Given the description of an element on the screen output the (x, y) to click on. 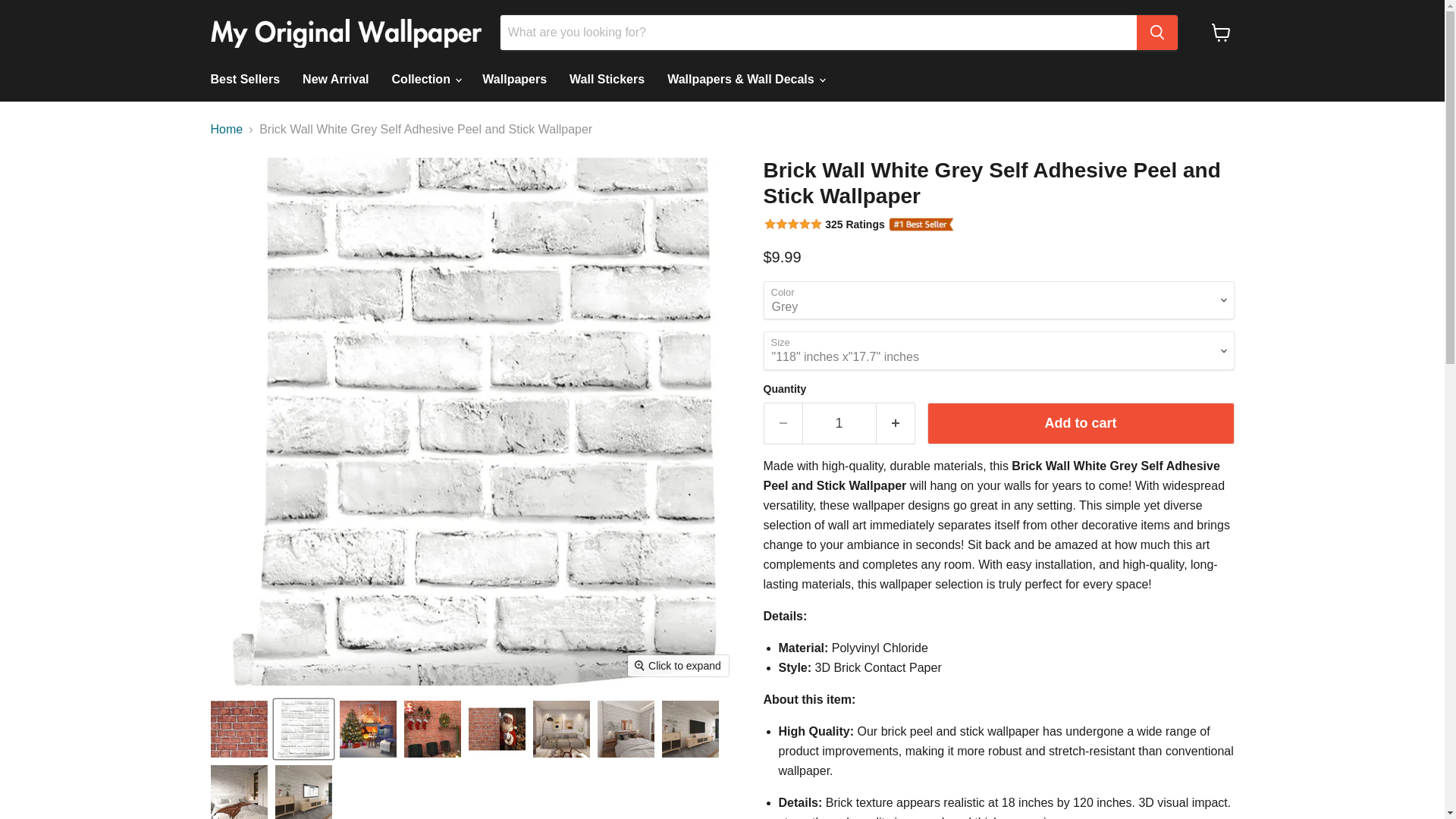
1 (839, 423)
Wallpapers (513, 79)
Wall Stickers (606, 79)
View cart (1221, 32)
New Arrival (335, 79)
Best Sellers (244, 79)
